Given the description of an element on the screen output the (x, y) to click on. 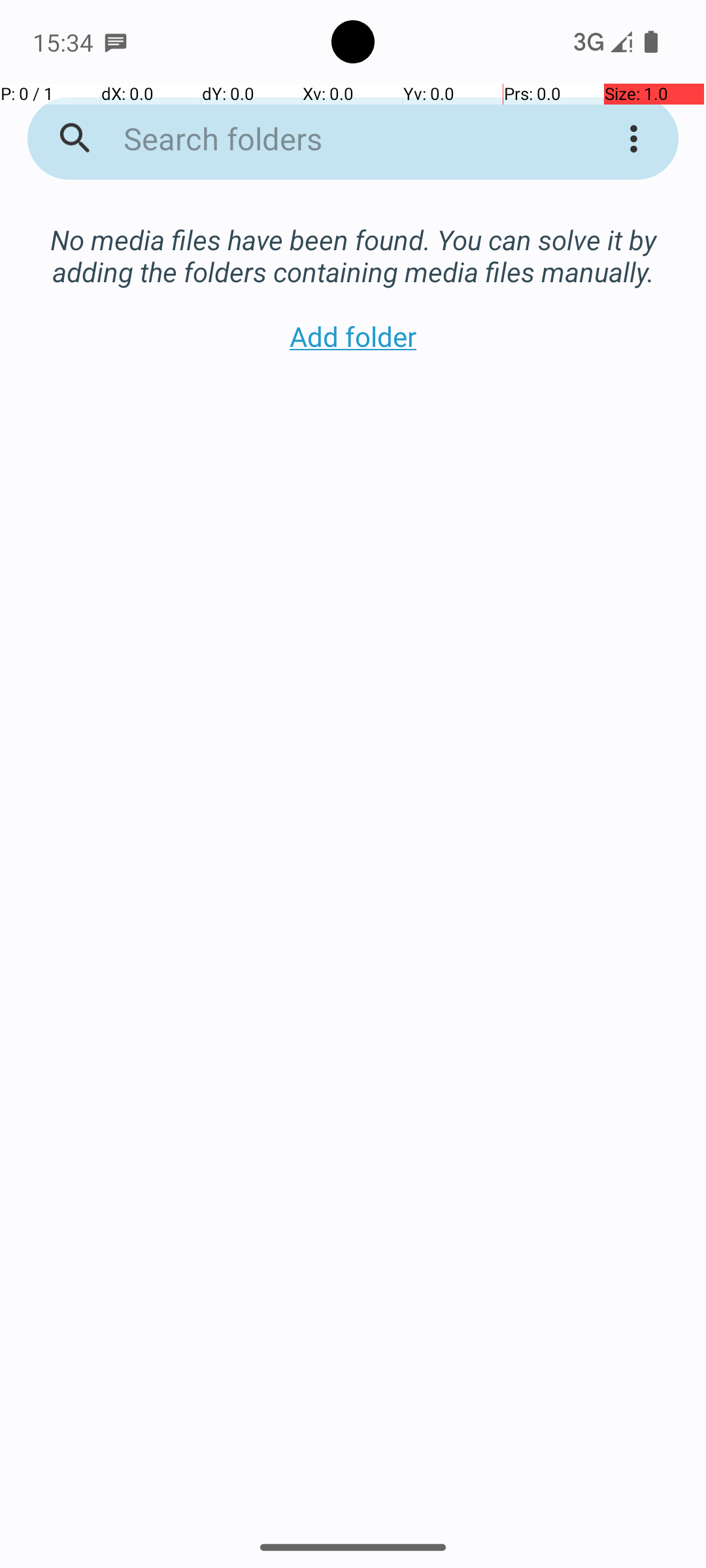
No media files have been found. You can solve it by adding the folders containing media files manually. Element type: android.widget.TextView (353, 241)
Add folder Element type: android.widget.TextView (352, 336)
Search folders Element type: android.widget.EditText (335, 138)
